Given the description of an element on the screen output the (x, y) to click on. 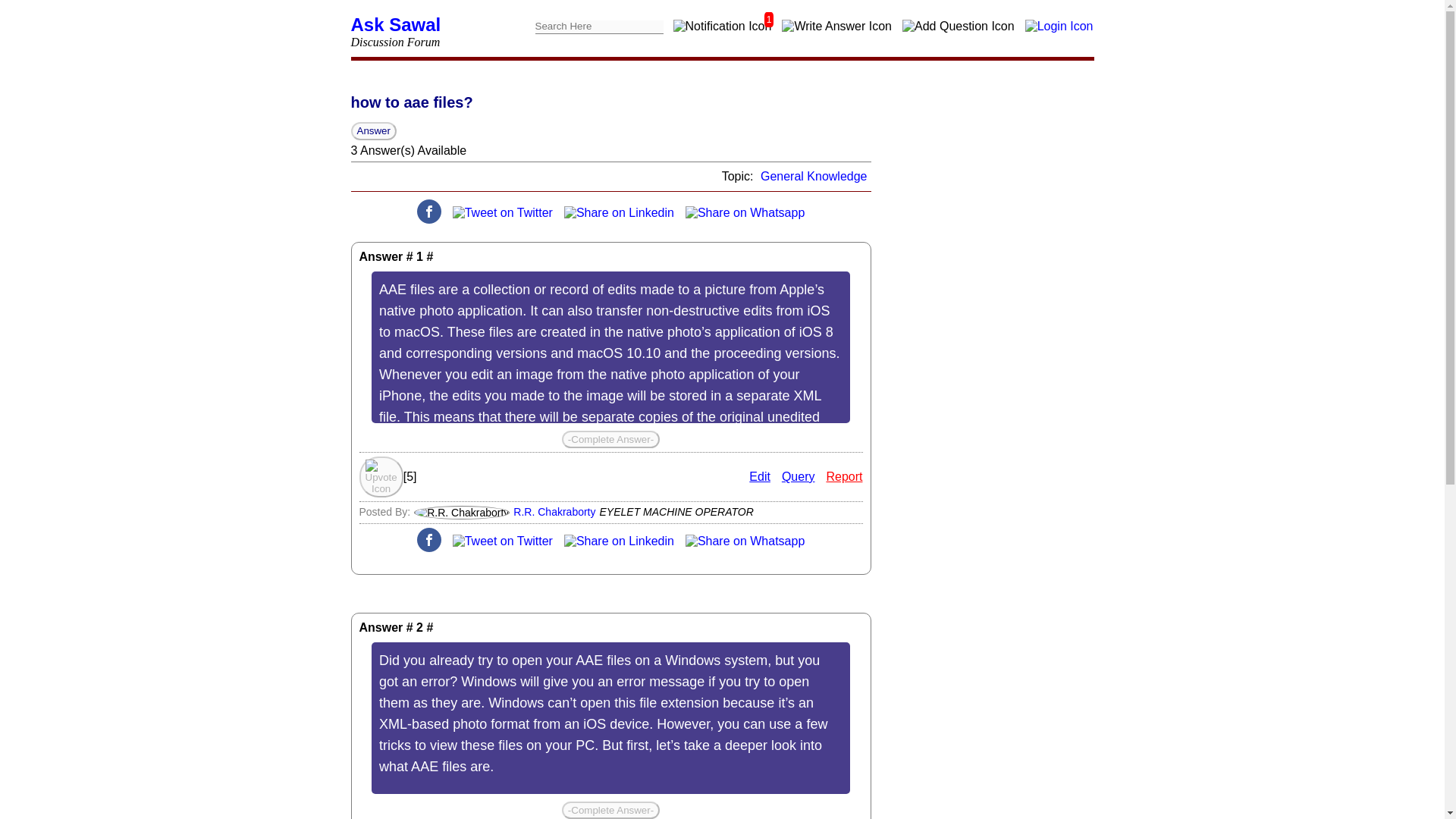
Answer (373, 130)
Add Question (957, 26)
Answer (373, 131)
Write Answer (836, 26)
-Complete Answer- (610, 810)
-Complete Answer- (610, 438)
Ask Sawal (395, 24)
R.R. Chakraborty (554, 511)
Signin Signout Option (1059, 26)
General Knowledge (813, 175)
